Given the description of an element on the screen output the (x, y) to click on. 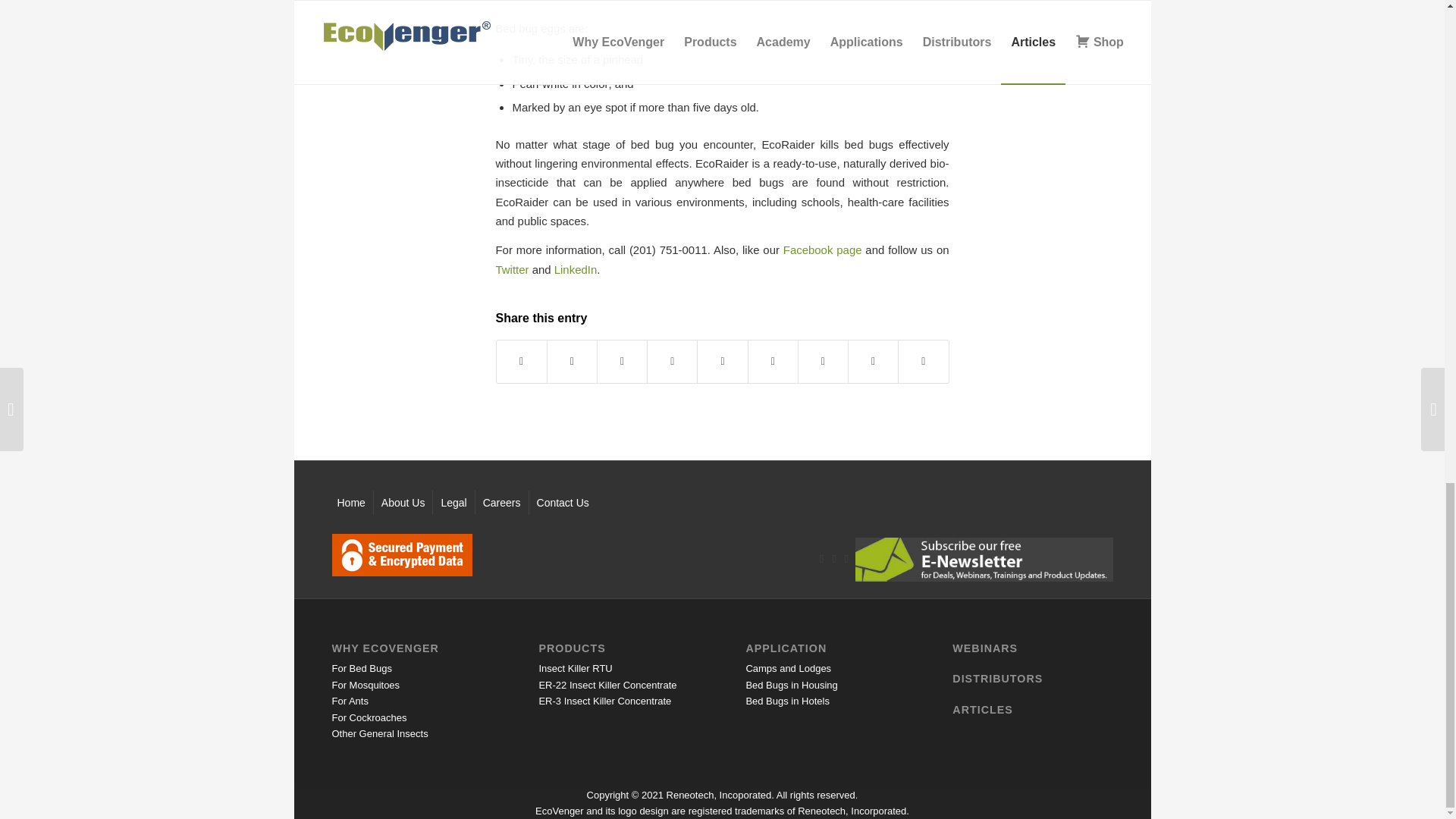
About Us (403, 502)
LinkedIn (575, 269)
Home (350, 502)
Twitter (512, 269)
